Given the description of an element on the screen output the (x, y) to click on. 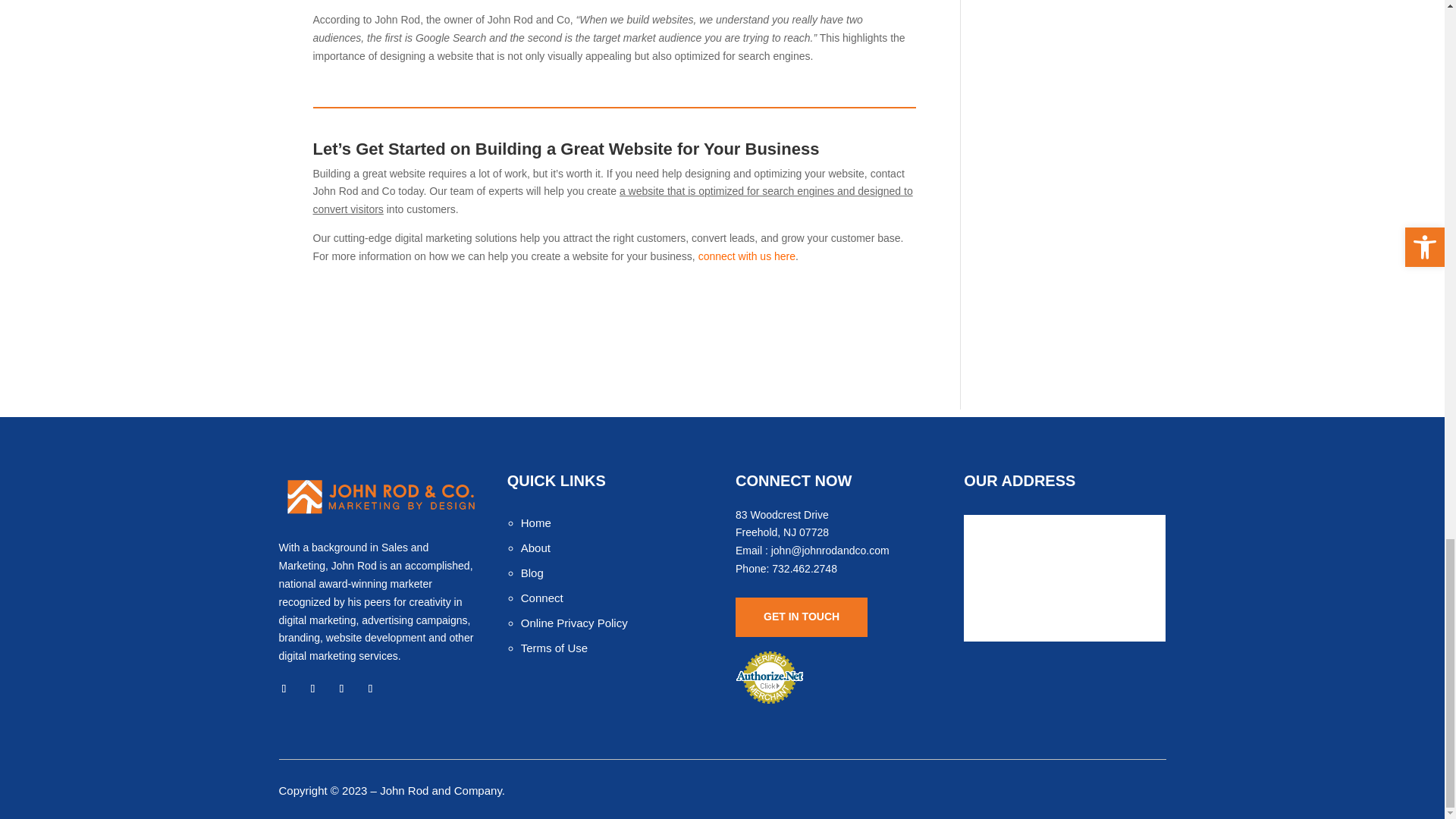
Follow on LinkedIn (370, 688)
Follow on Instagram (341, 688)
connect with us here (746, 256)
Follow on X (312, 688)
Follow on Facebook (284, 688)
